Given the description of an element on the screen output the (x, y) to click on. 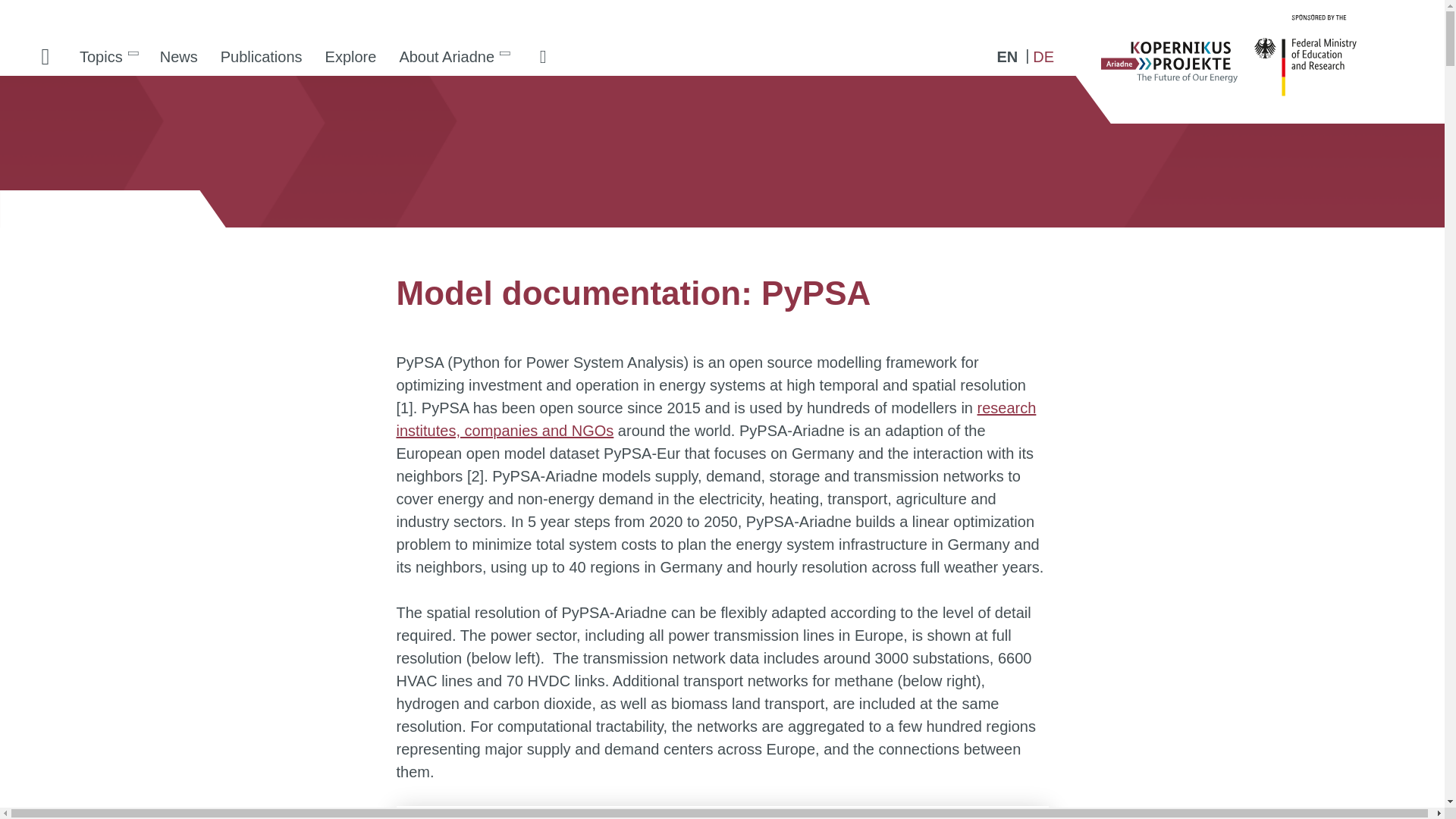
News (178, 56)
Explore (351, 56)
Topics (108, 56)
Publications (261, 56)
Home (45, 56)
Find (542, 56)
About Ariadne (453, 56)
